Given the description of an element on the screen output the (x, y) to click on. 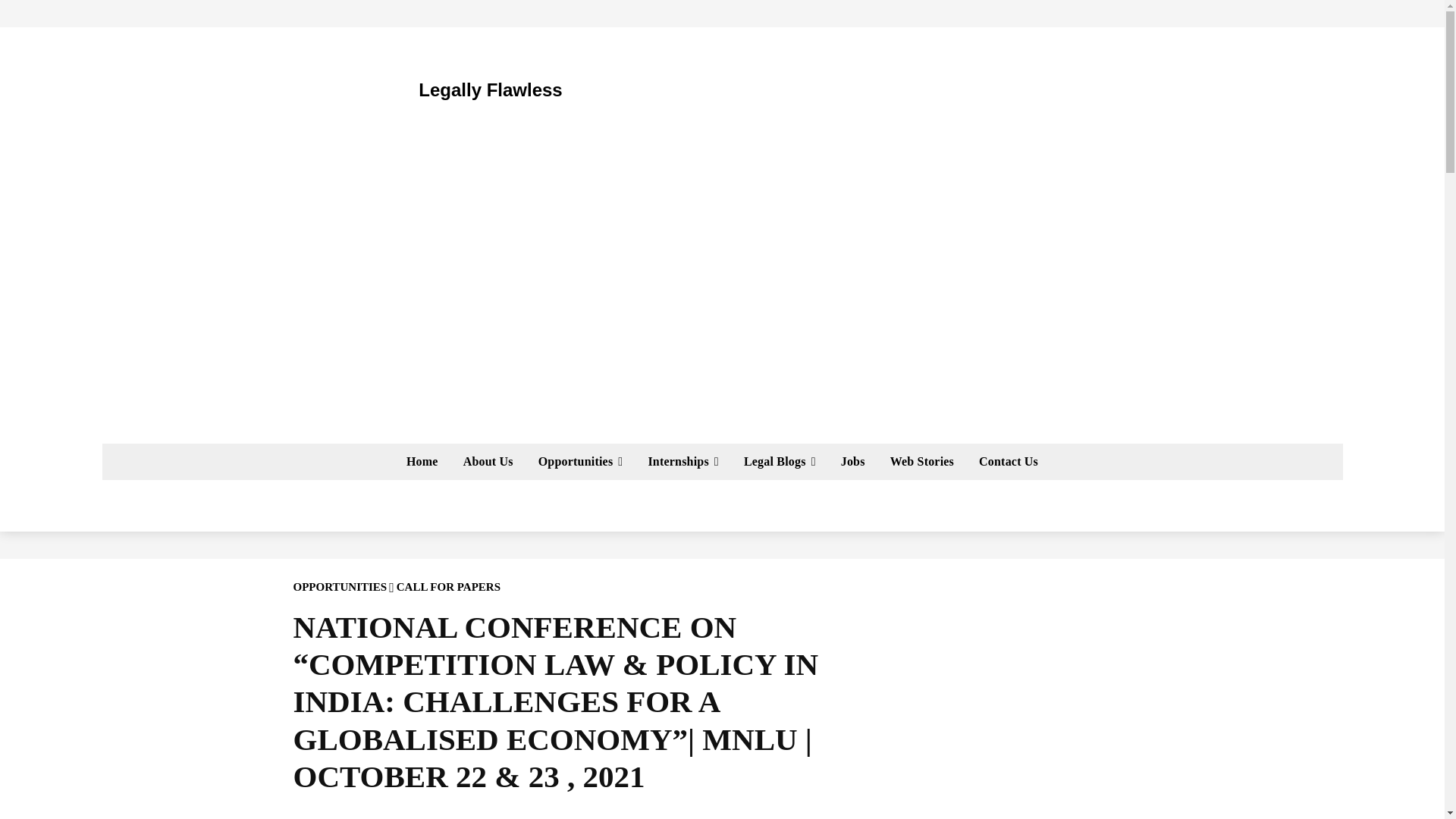
Home (422, 461)
About Us (488, 461)
Legally Flawless (439, 89)
Opportunities (580, 461)
